Given the description of an element on the screen output the (x, y) to click on. 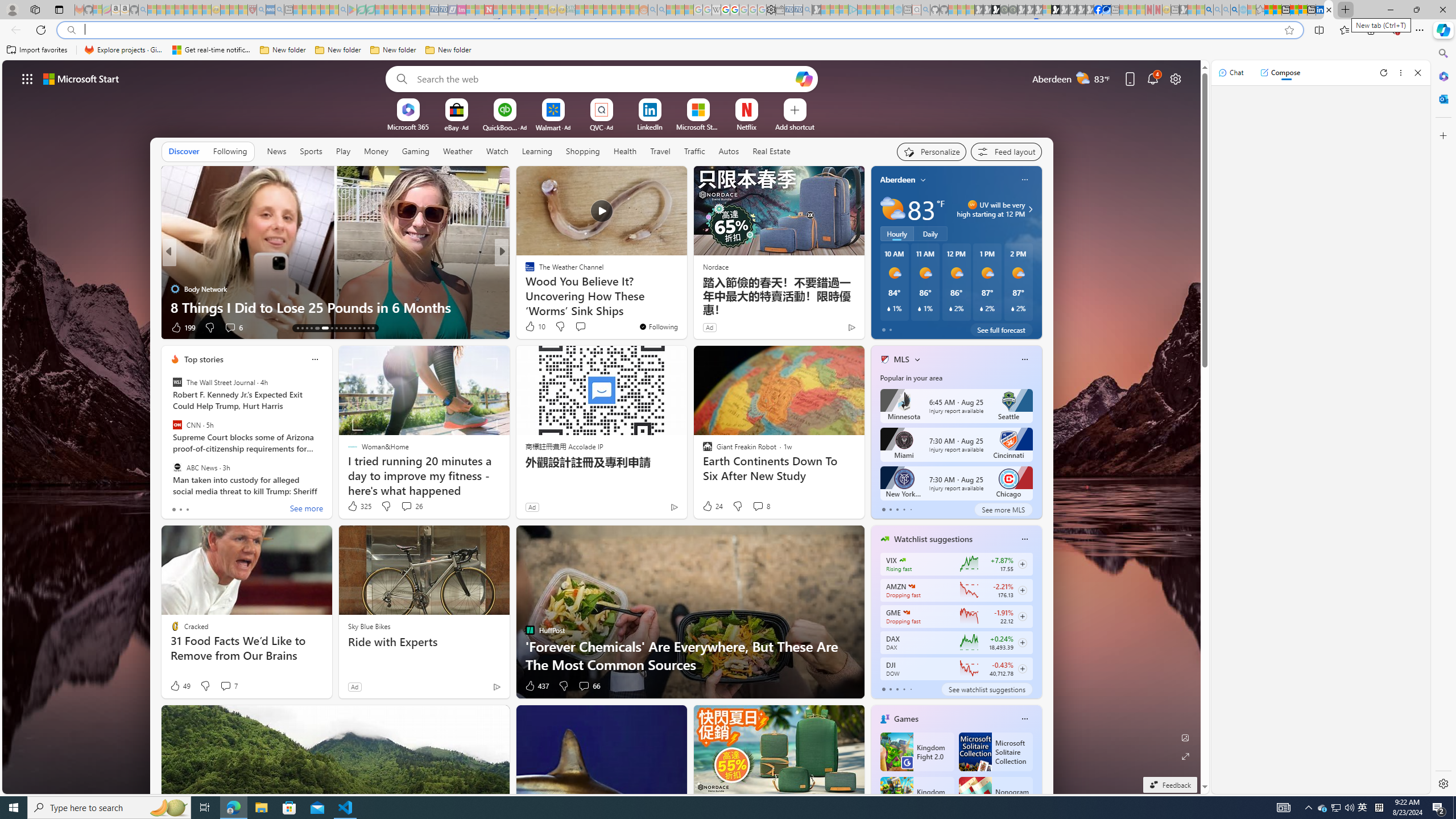
AutomationID: tab-24 (354, 328)
CBOE Market Volatility Index (901, 559)
See watchlist suggestions (986, 689)
437 Like (536, 685)
View comments 26 Comment (406, 505)
AutomationID: tab-17 (315, 328)
My location (922, 179)
